Given the description of an element on the screen output the (x, y) to click on. 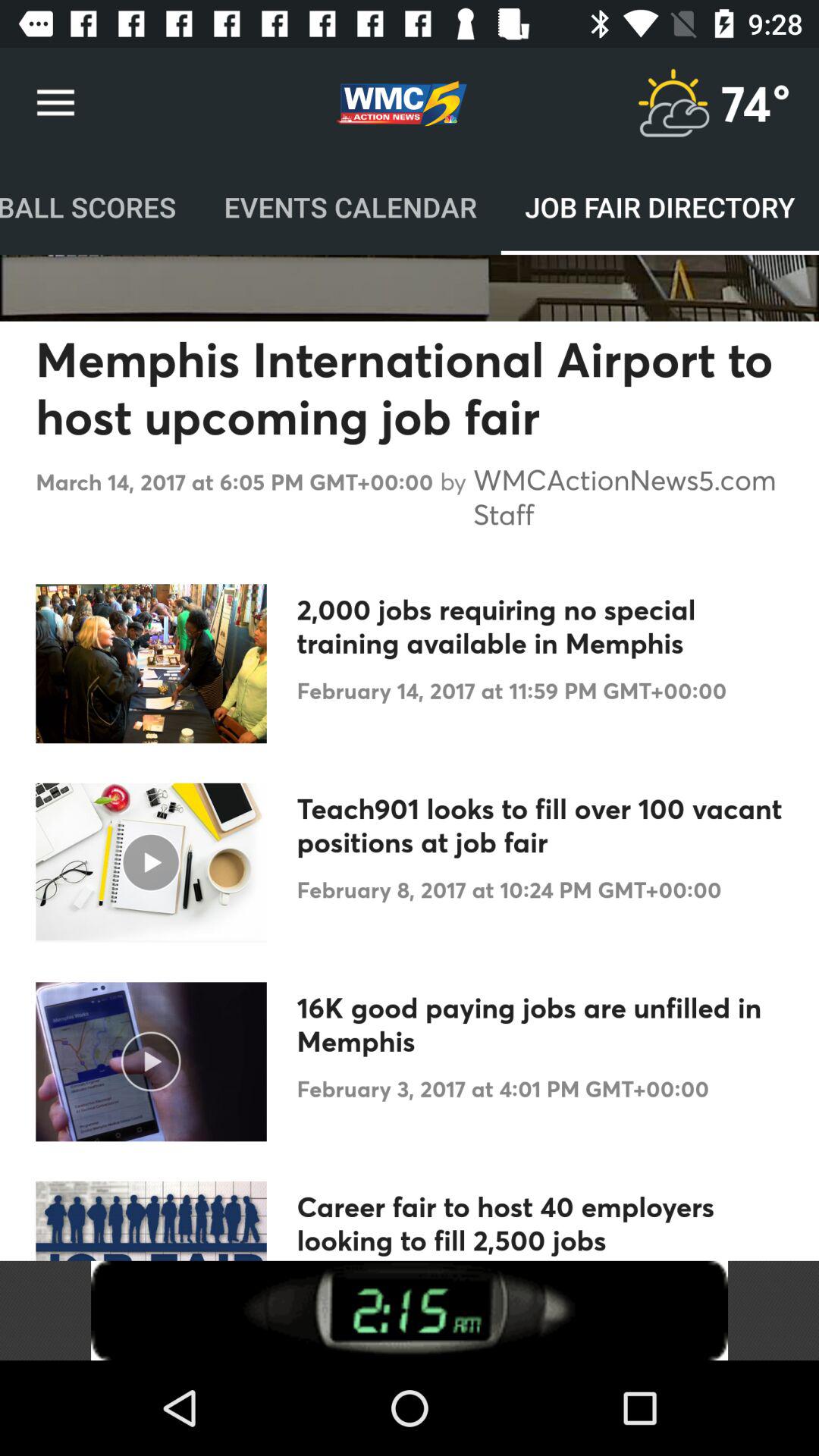
weather (673, 103)
